Given the description of an element on the screen output the (x, y) to click on. 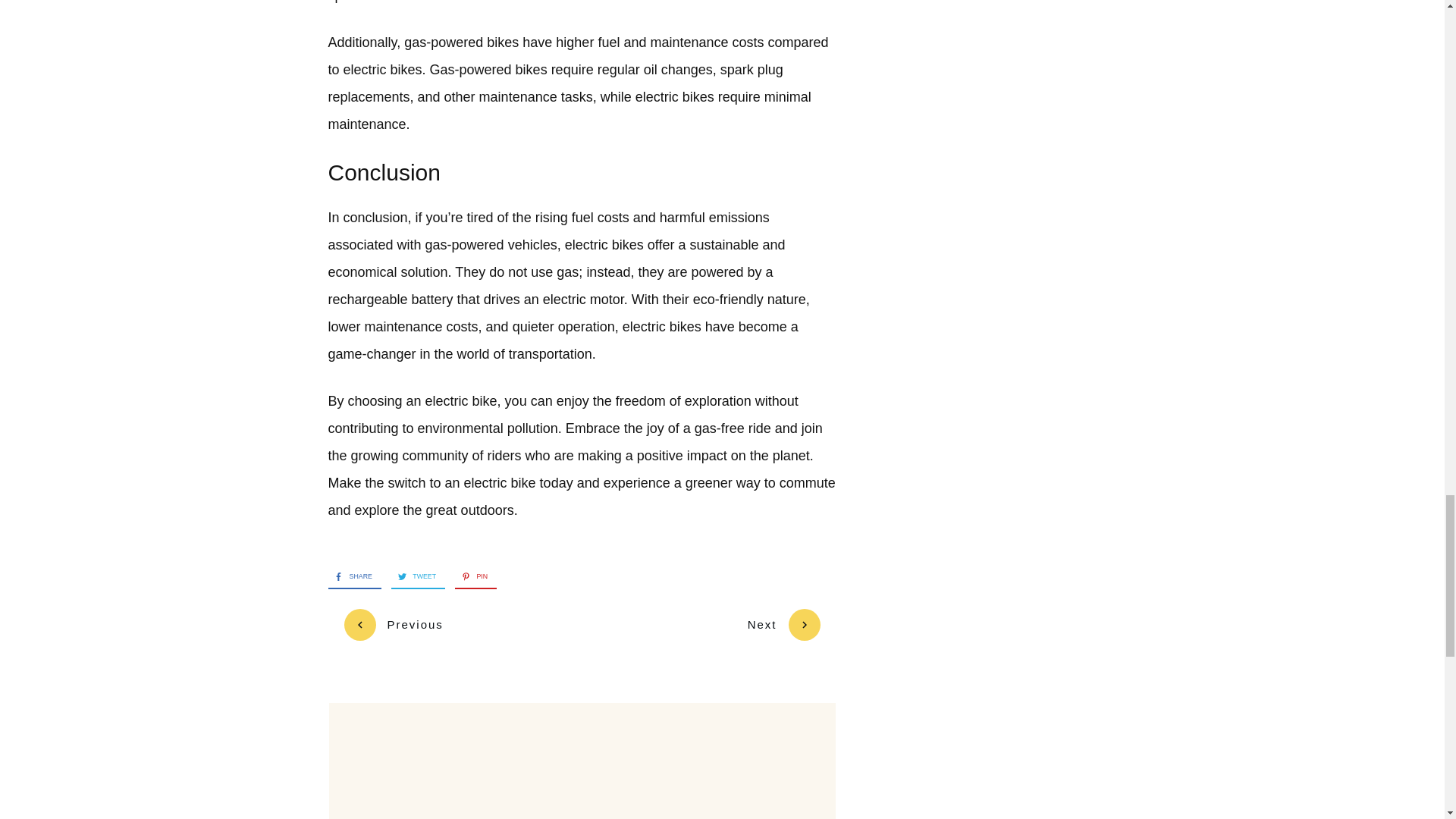
Next (784, 624)
Previous (393, 624)
PIN (470, 577)
TWEET (413, 577)
SHARE (349, 577)
